Given the description of an element on the screen output the (x, y) to click on. 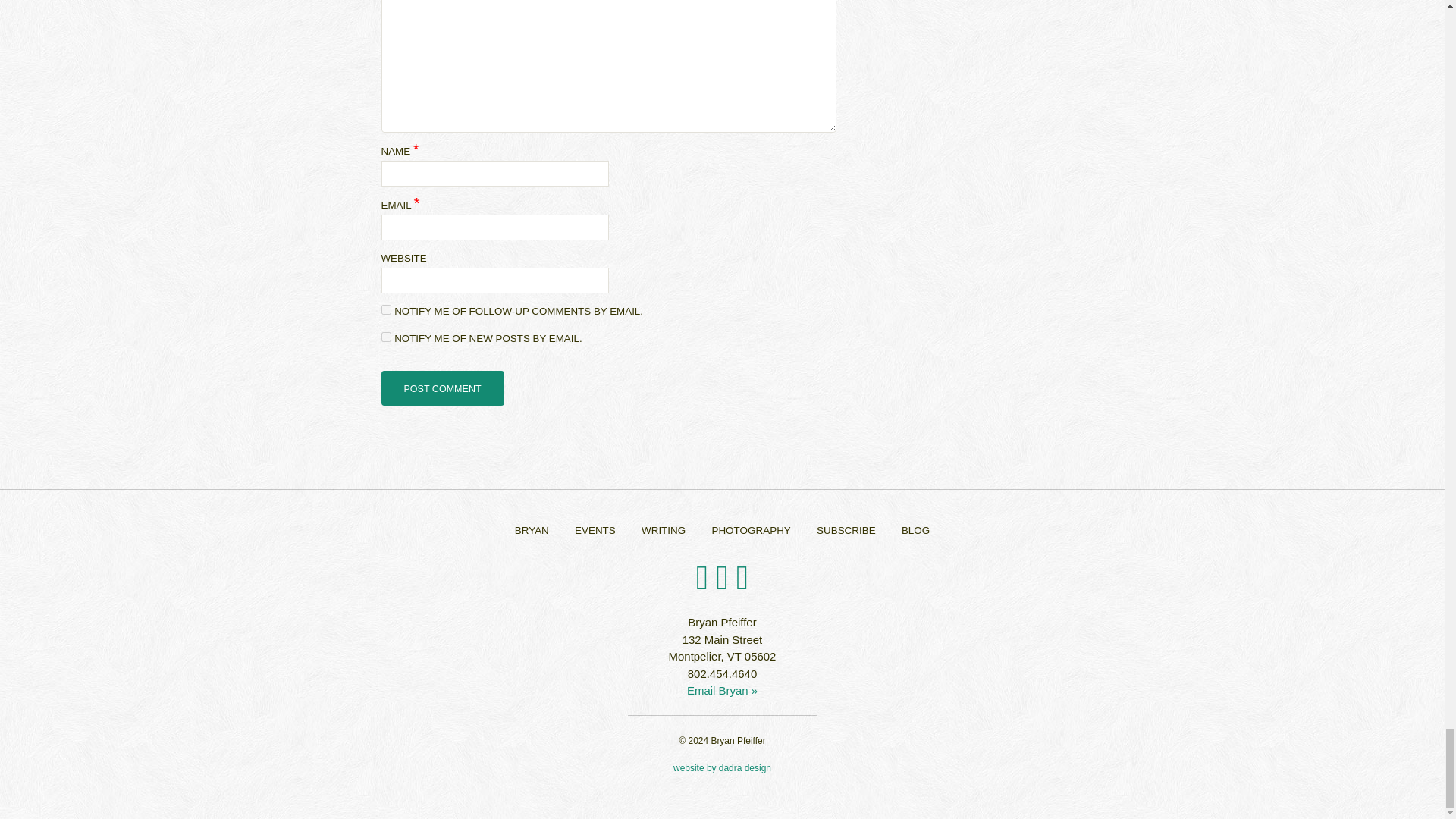
subscribe (385, 309)
subscribe (385, 337)
Post Comment (441, 388)
